Given the description of an element on the screen output the (x, y) to click on. 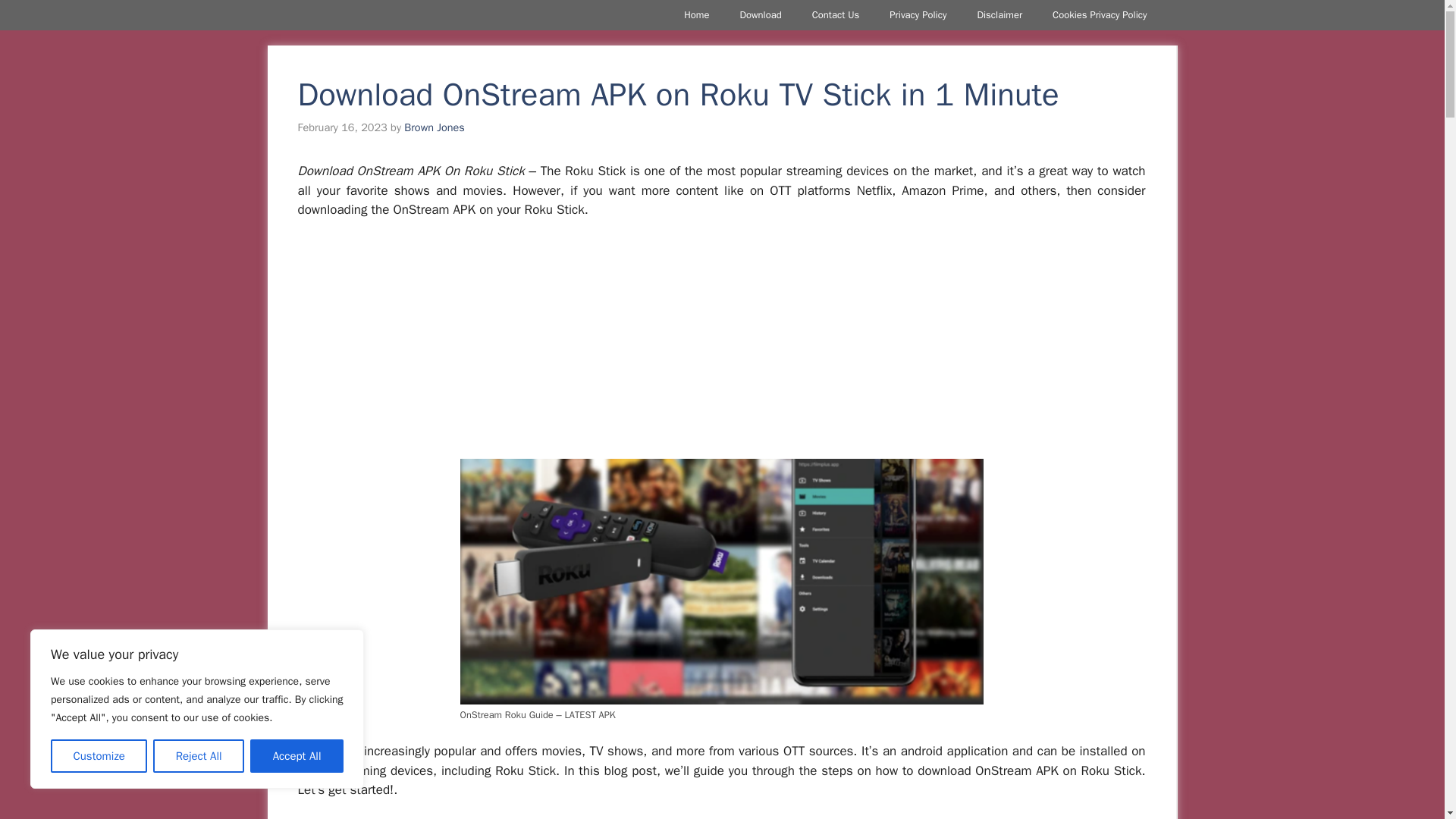
Brown Jones (434, 127)
Contact Us (835, 15)
Privacy Policy (917, 15)
Reject All (198, 756)
Cookies Privacy Policy (1098, 15)
Disclaimer (998, 15)
Customize (98, 756)
Download (759, 15)
Home (695, 15)
Accept All (296, 756)
View all posts by Brown Jones (434, 127)
